Given the description of an element on the screen output the (x, y) to click on. 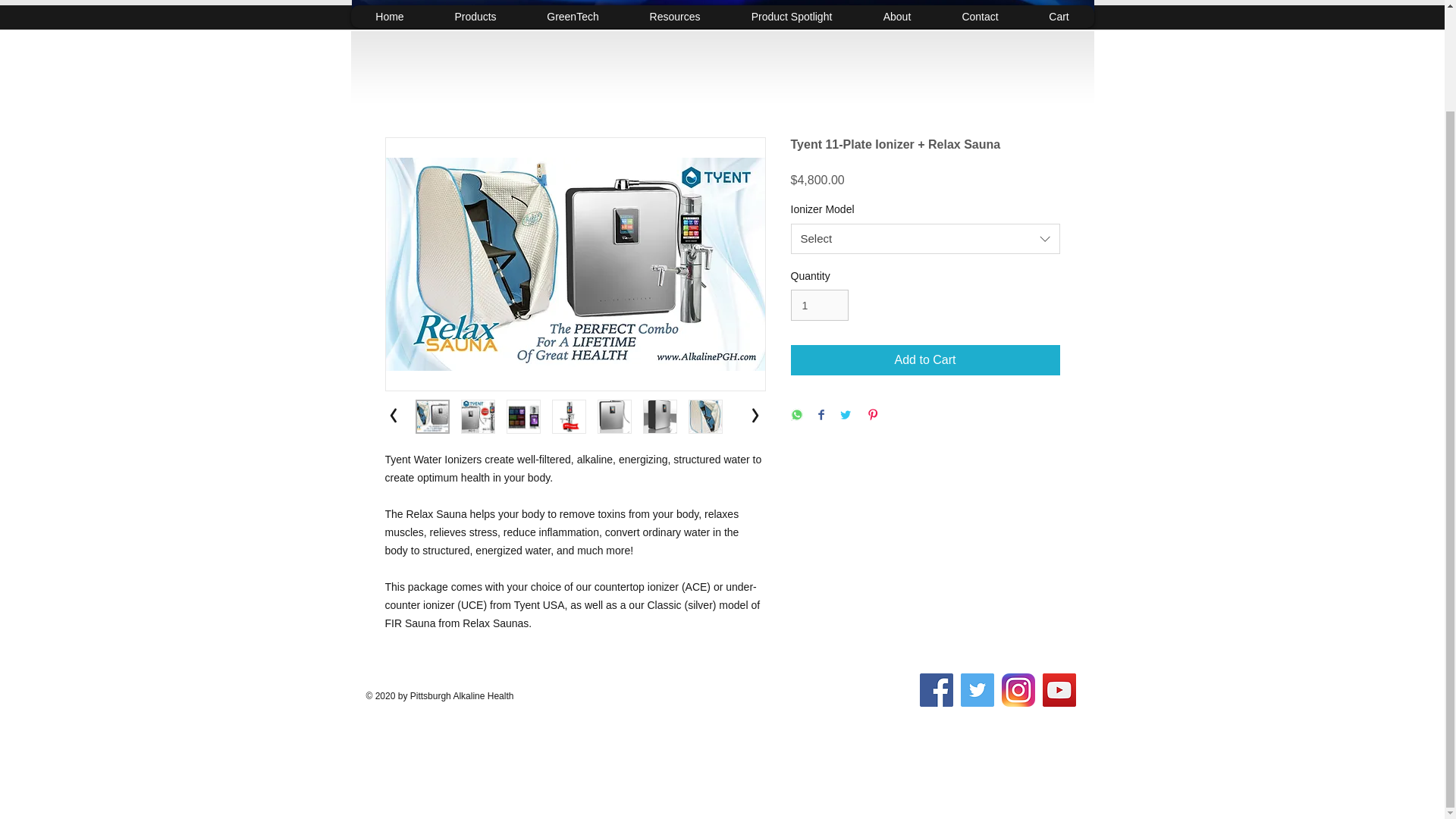
Resources (674, 15)
Contact (979, 15)
Add to Cart (924, 359)
Home (389, 15)
Select (924, 238)
1 (818, 305)
About (896, 15)
Products (475, 15)
Cart (1058, 15)
GreenTech (572, 15)
Pittsburgh Alkaline Water (723, 10)
Product Spotlight (791, 15)
